Given the description of an element on the screen output the (x, y) to click on. 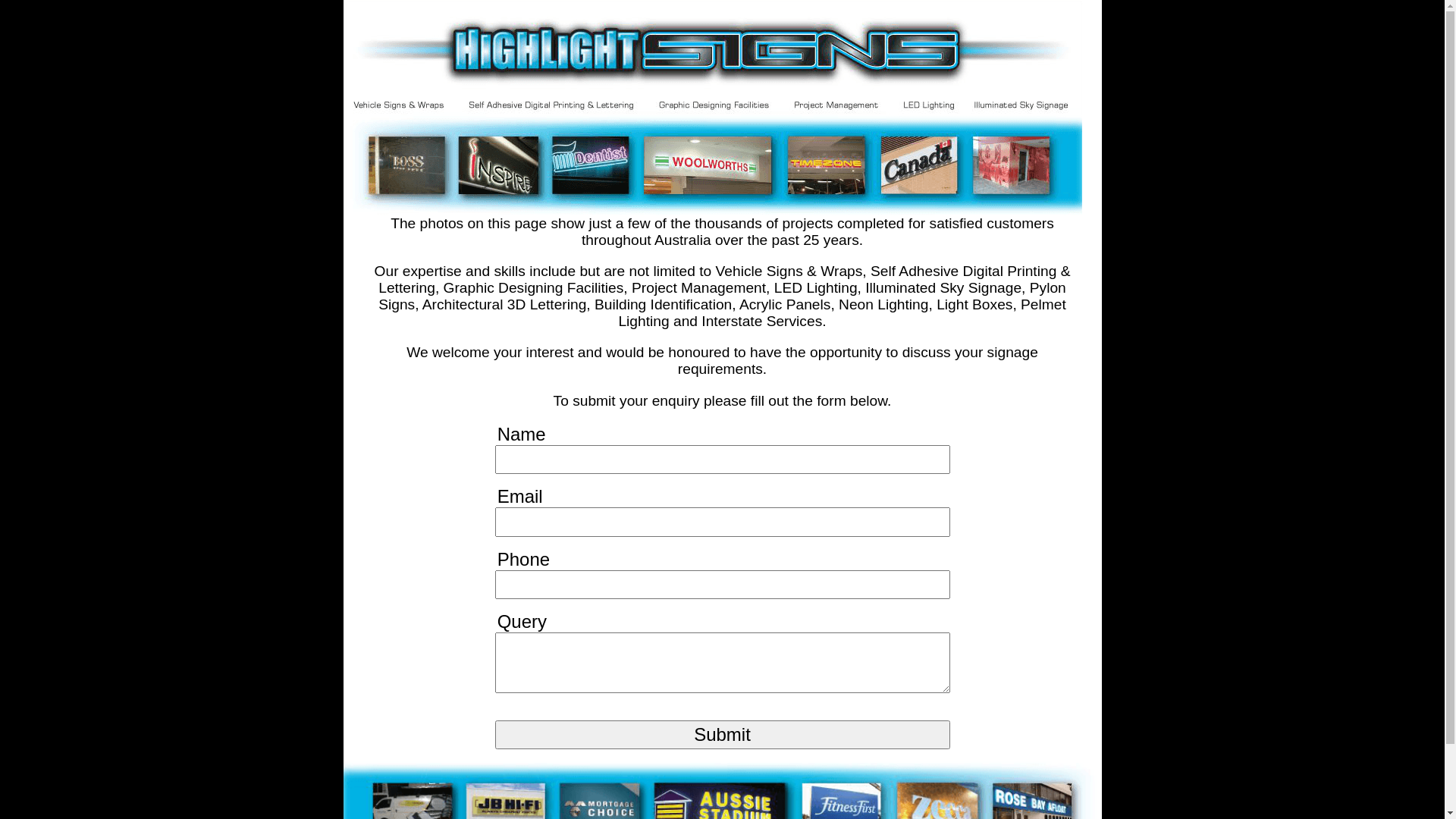
Submit Element type: text (721, 734)
